Given the description of an element on the screen output the (x, y) to click on. 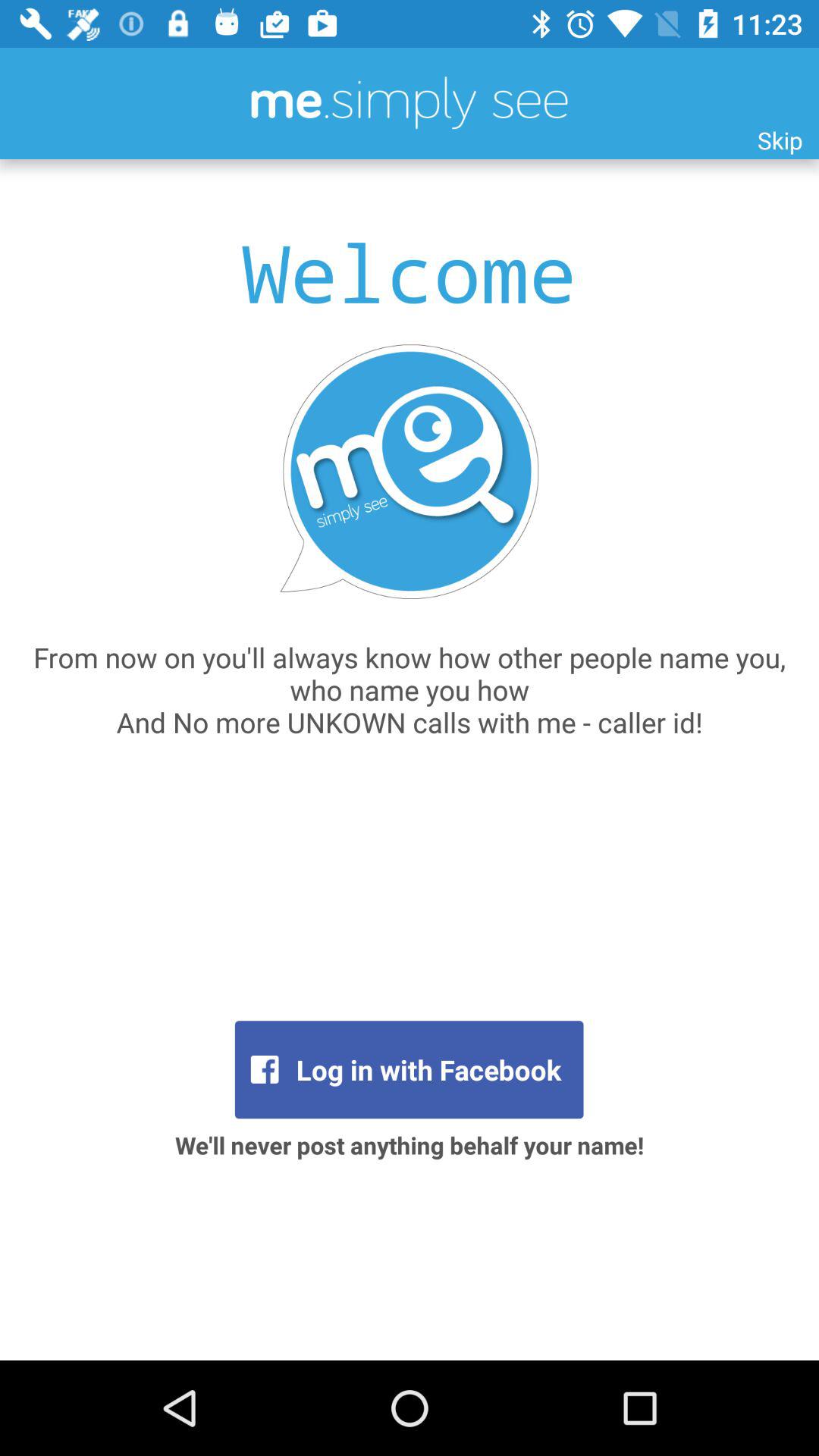
open icon above the from now on item (780, 139)
